Given the description of an element on the screen output the (x, y) to click on. 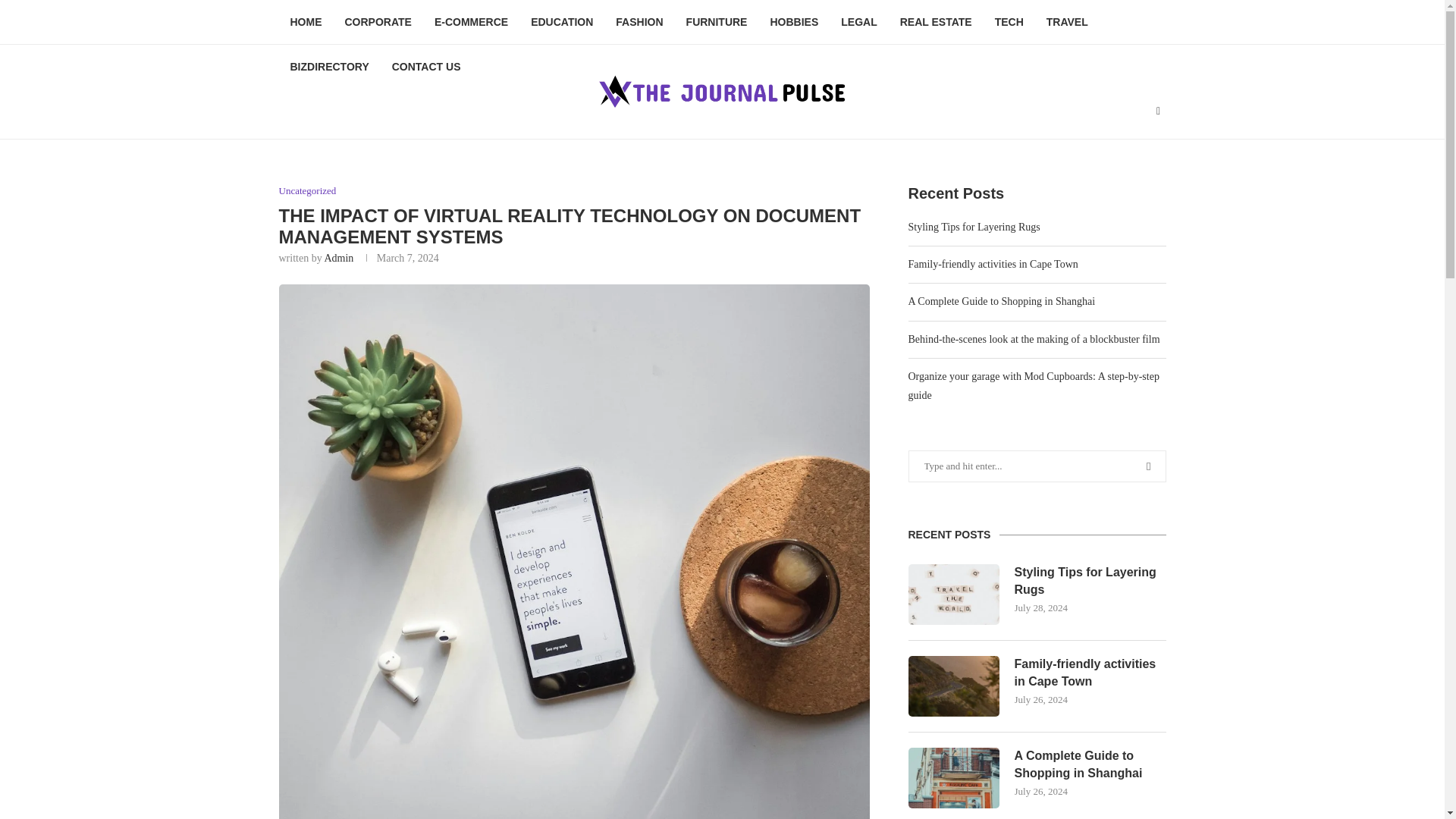
Uncategorized (307, 191)
CORPORATE (378, 22)
FURNITURE (716, 22)
BIZDIRECTORY (329, 67)
EDUCATION (561, 22)
Admin (338, 257)
LEGAL (858, 22)
HOME (306, 22)
FASHION (639, 22)
E-COMMERCE (471, 22)
TRAVEL (1067, 22)
TECH (1009, 22)
CONTACT US (425, 67)
HOBBIES (793, 22)
